Given the description of an element on the screen output the (x, y) to click on. 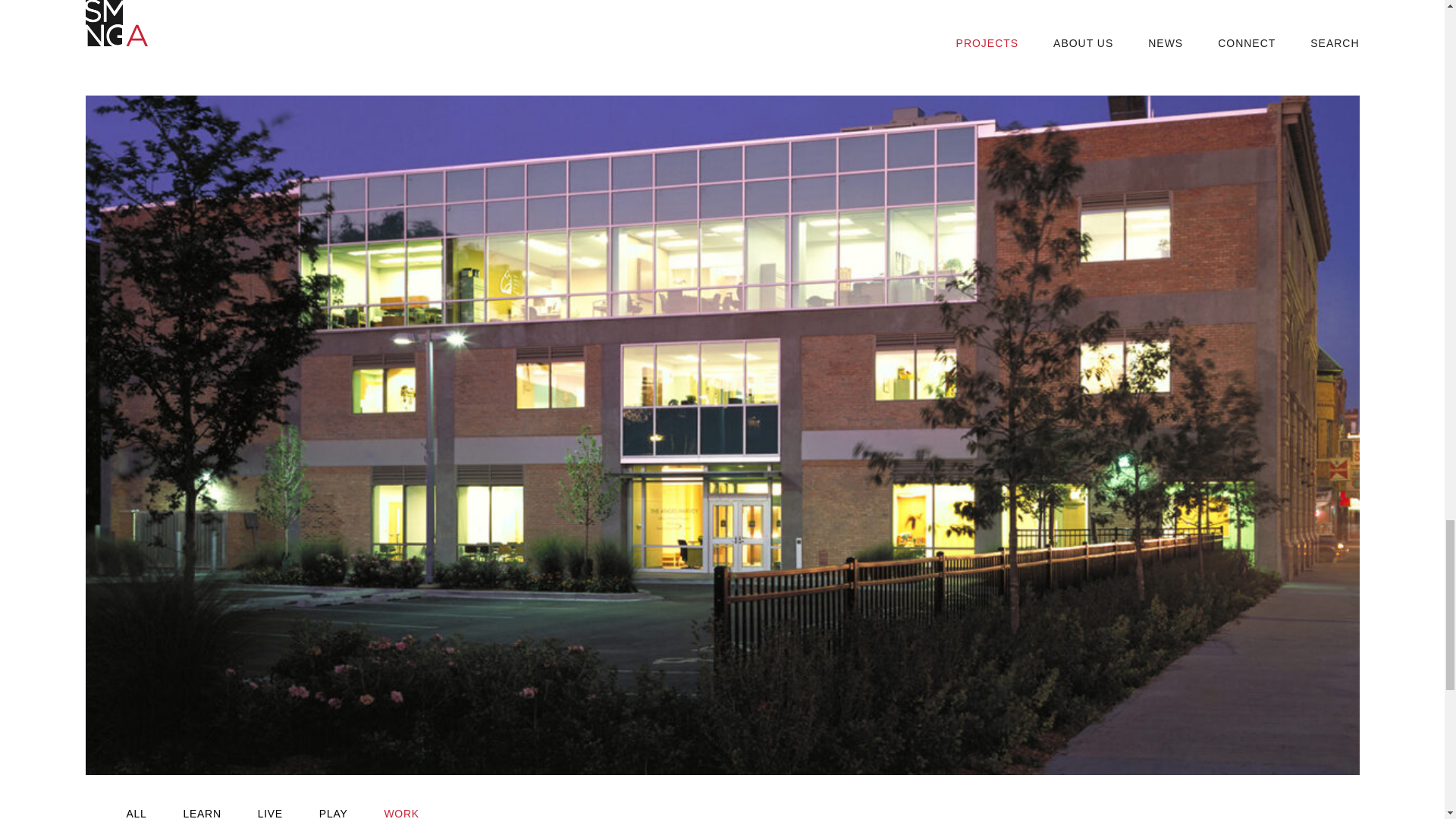
PLAY (332, 812)
LEARN (202, 812)
ALL (136, 812)
LIVE (269, 812)
WORK (401, 812)
